Given the description of an element on the screen output the (x, y) to click on. 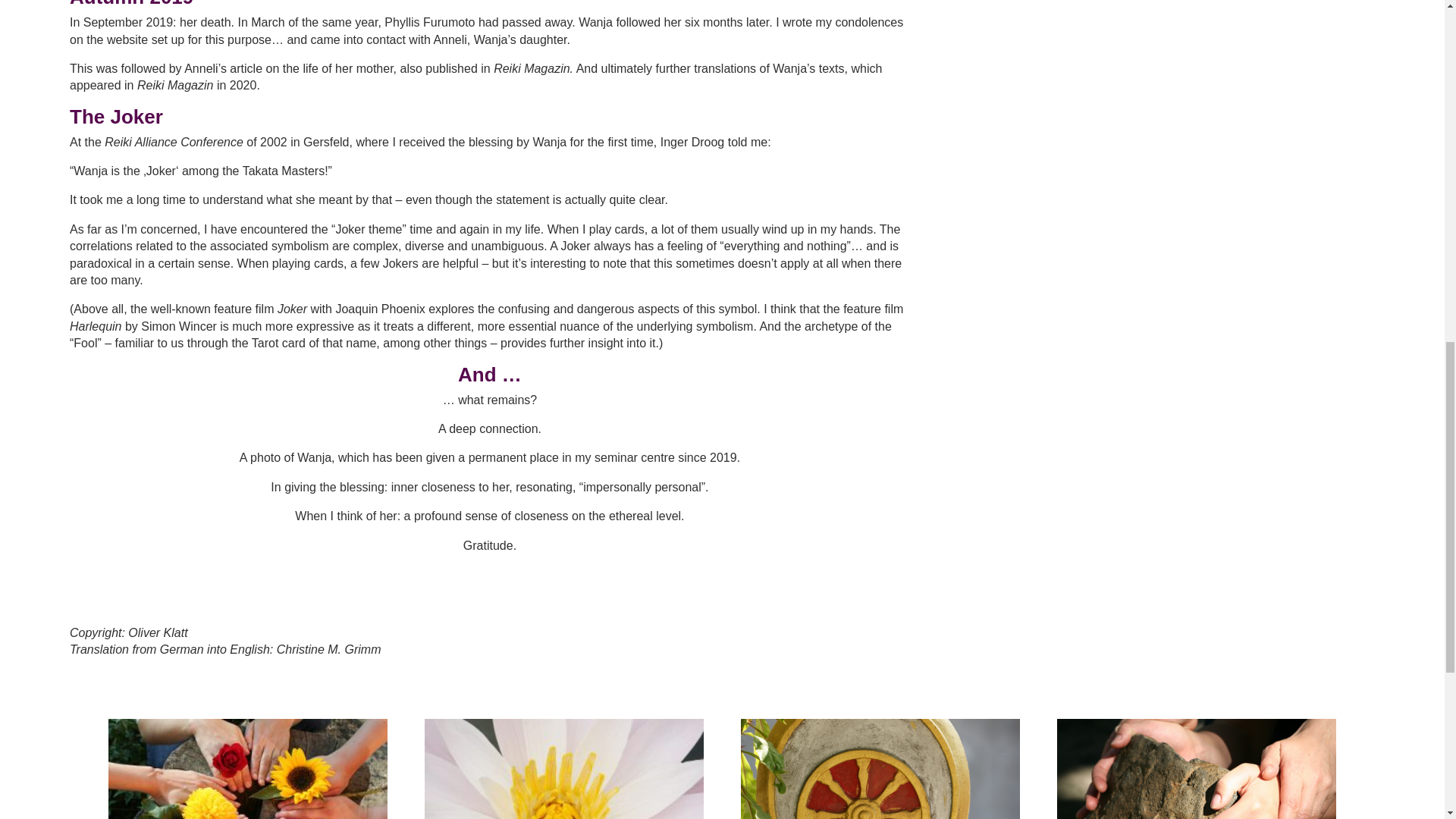
Reiki-Meisterausbildung (1196, 769)
Reiki-Sessions (564, 769)
Reiki-Seminare (247, 769)
Lebensberatung (880, 769)
